Given the description of an element on the screen output the (x, y) to click on. 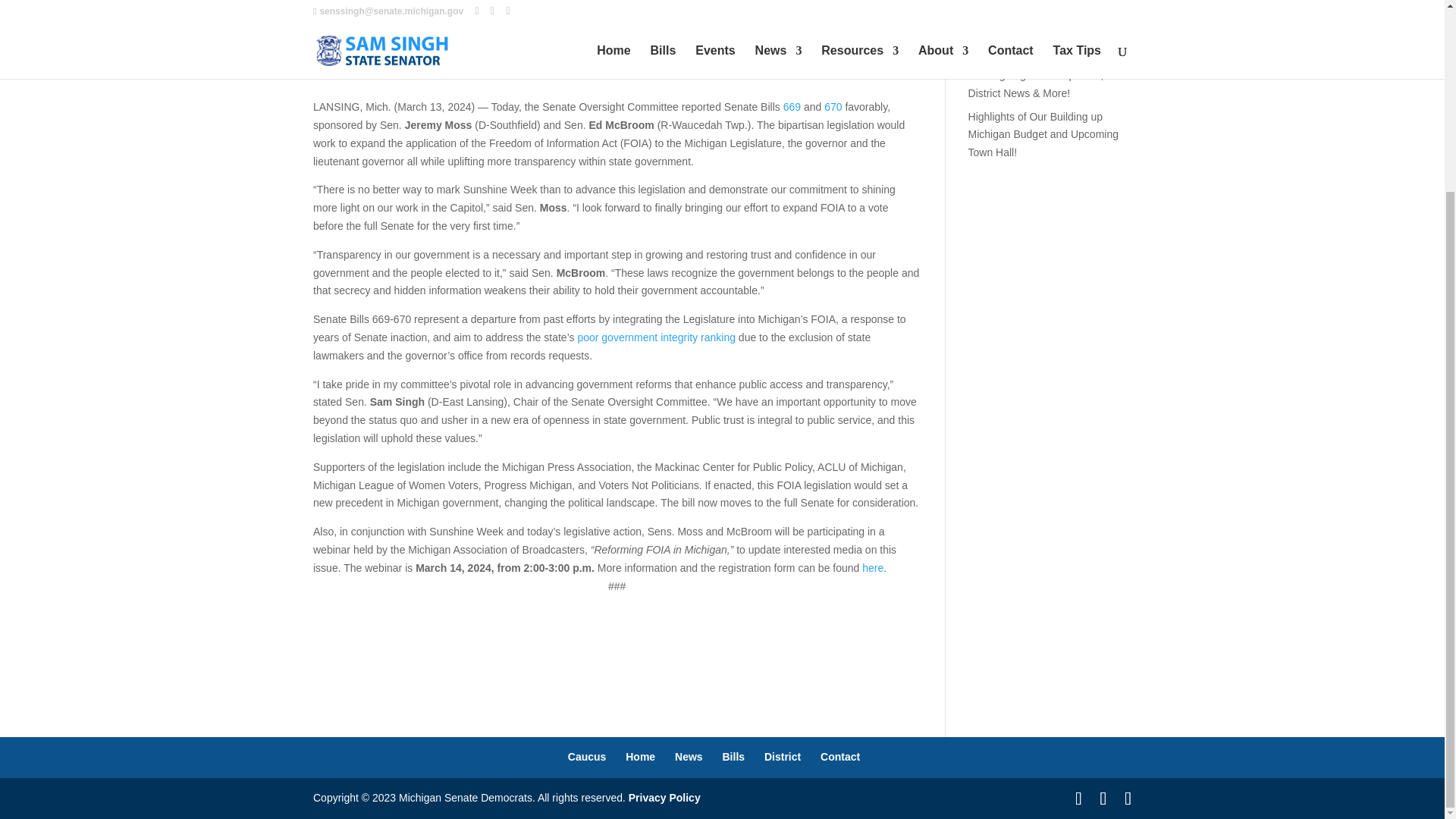
669 (791, 106)
